Given the description of an element on the screen output the (x, y) to click on. 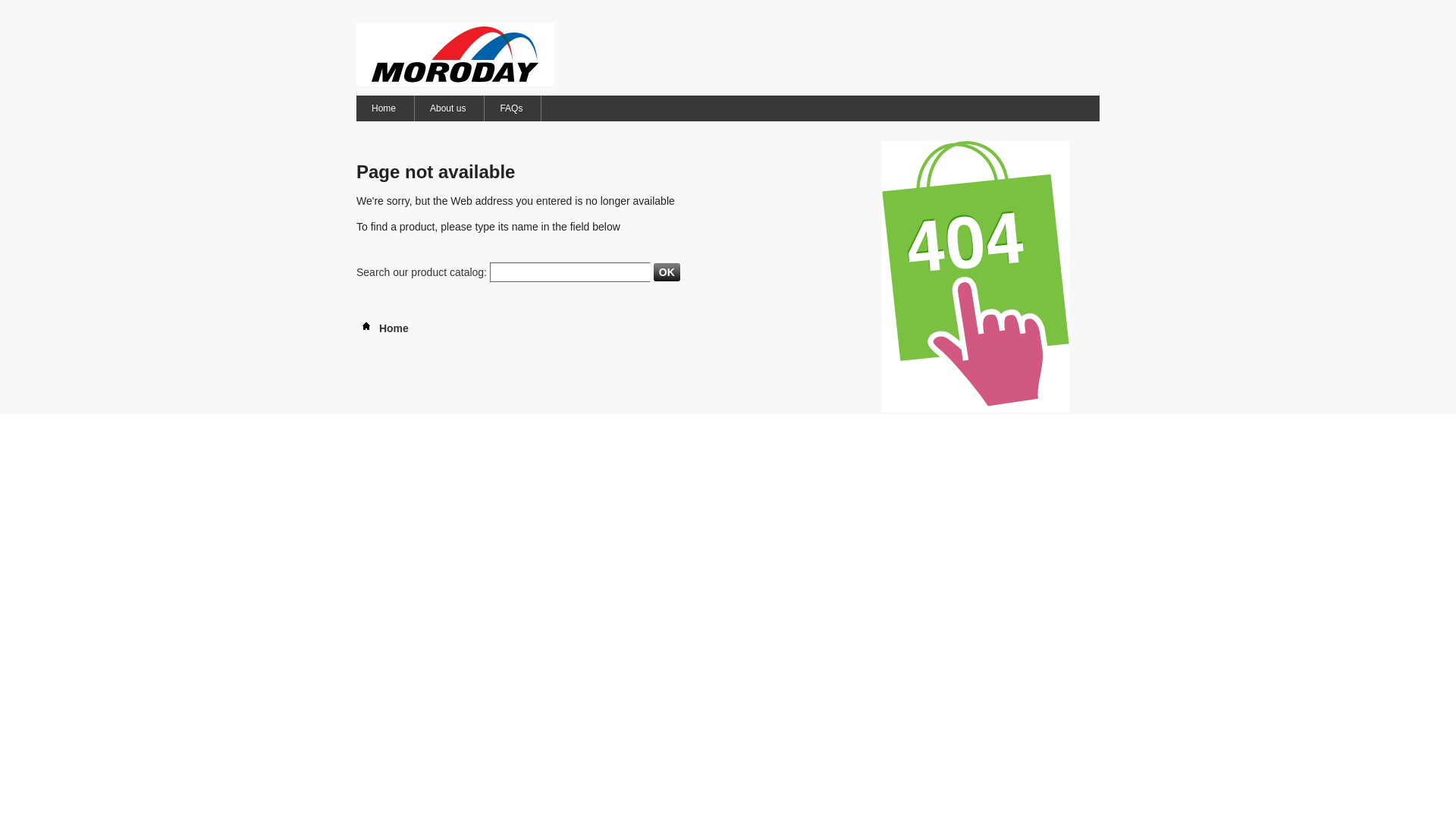
Moroday Element type: hover (455, 54)
Home Element type: text (382, 328)
Home Element type: text (384, 108)
FAQs Element type: text (511, 108)
About us Element type: text (448, 108)
OK Element type: text (666, 272)
